Given the description of an element on the screen output the (x, y) to click on. 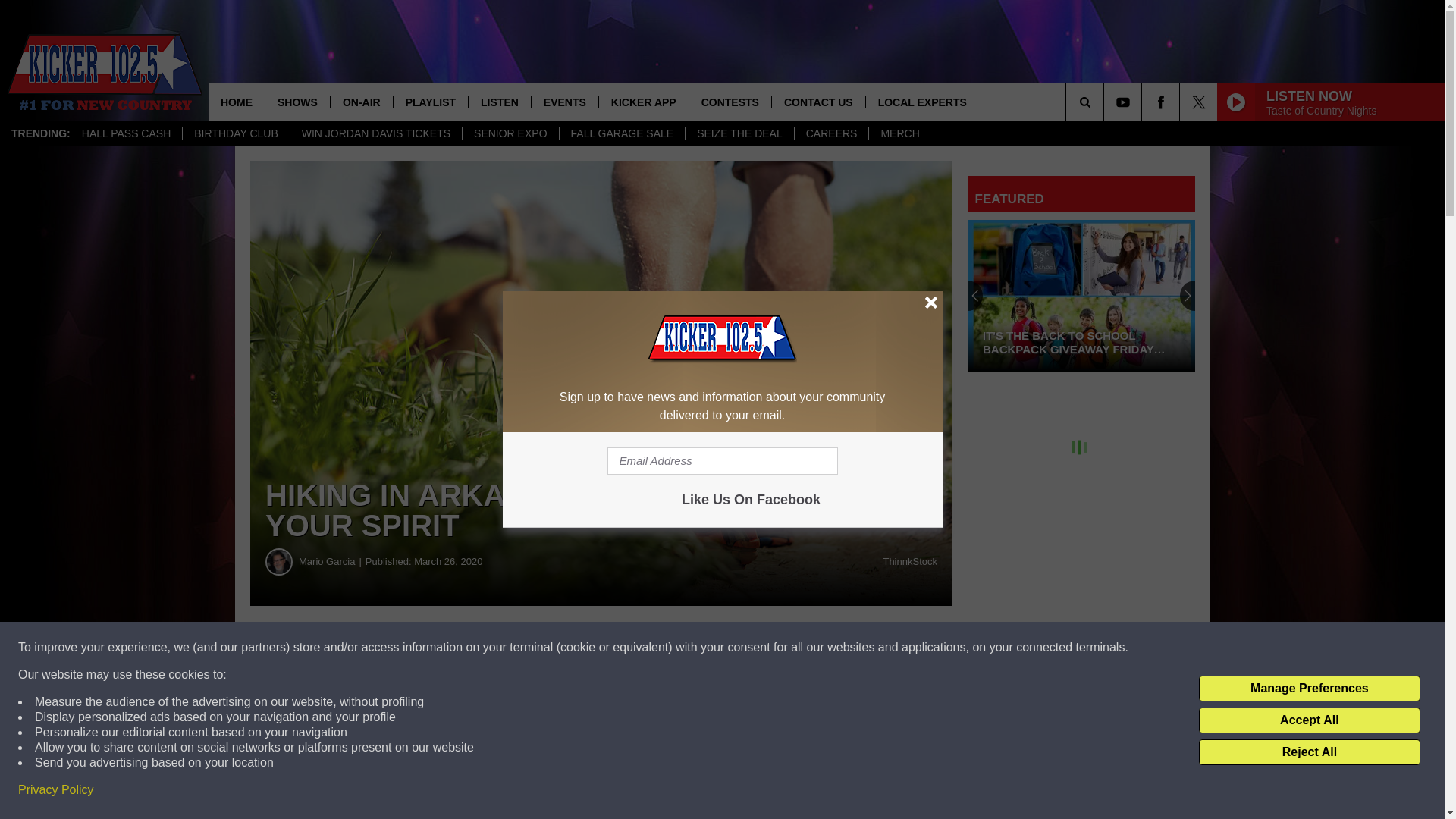
WIN JORDAN DAVIS TICKETS (375, 133)
Email Address (722, 461)
PLAYLIST (430, 102)
Manage Preferences (1309, 688)
LISTEN (499, 102)
SEARCH (1106, 102)
SEARCH (1106, 102)
EVENTS (564, 102)
MERCH (898, 133)
Reject All (1309, 751)
CONTESTS (729, 102)
Share on Twitter (741, 647)
SEIZE THE DEAL (738, 133)
CAREERS (831, 133)
Accept All (1309, 720)
